Given the description of an element on the screen output the (x, y) to click on. 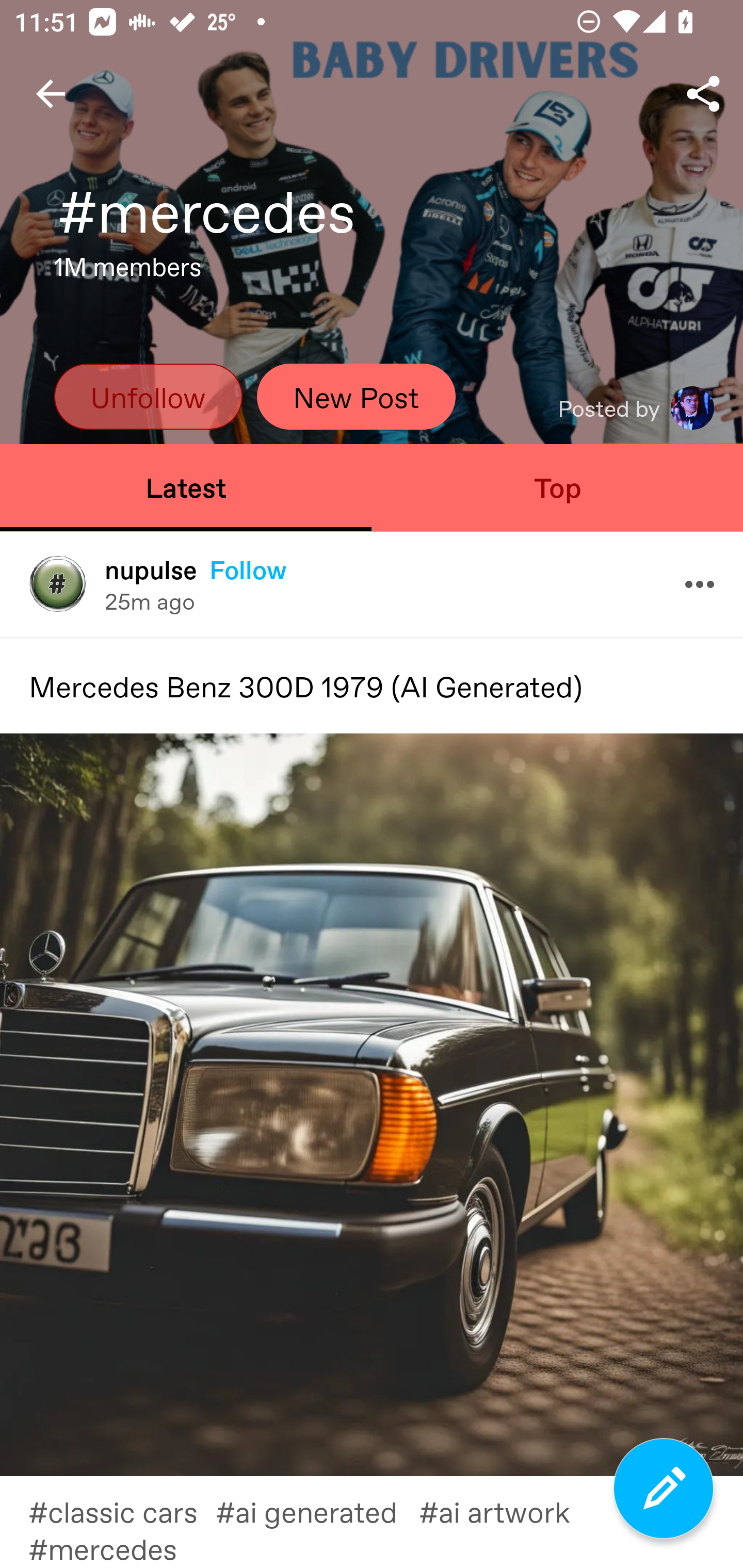
Navigate up (50, 93)
1M members (128, 272)
Unfollow (148, 396)
New Post (356, 396)
Top (557, 486)
Avatar frame nupulse   nupulse Follow 25m ago (371, 583)
Follow (247, 569)
Compose a new post (663, 1488)
#classic cars (121, 1511)
#ai generated (317, 1511)
#ai artwork (505, 1511)
#mercedes (116, 1548)
